Given the description of an element on the screen output the (x, y) to click on. 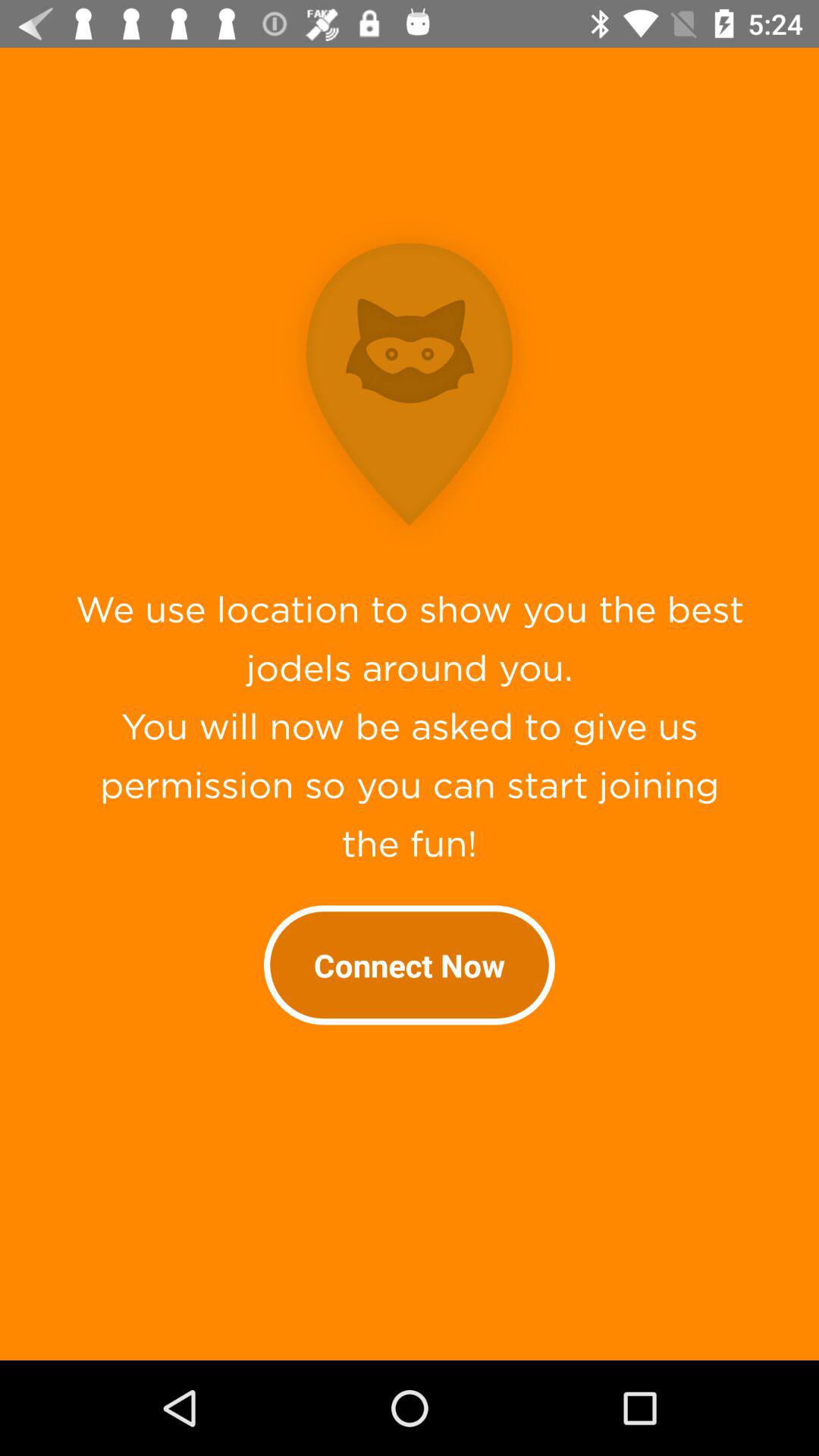
jump until the connect now (409, 964)
